Given the description of an element on the screen output the (x, y) to click on. 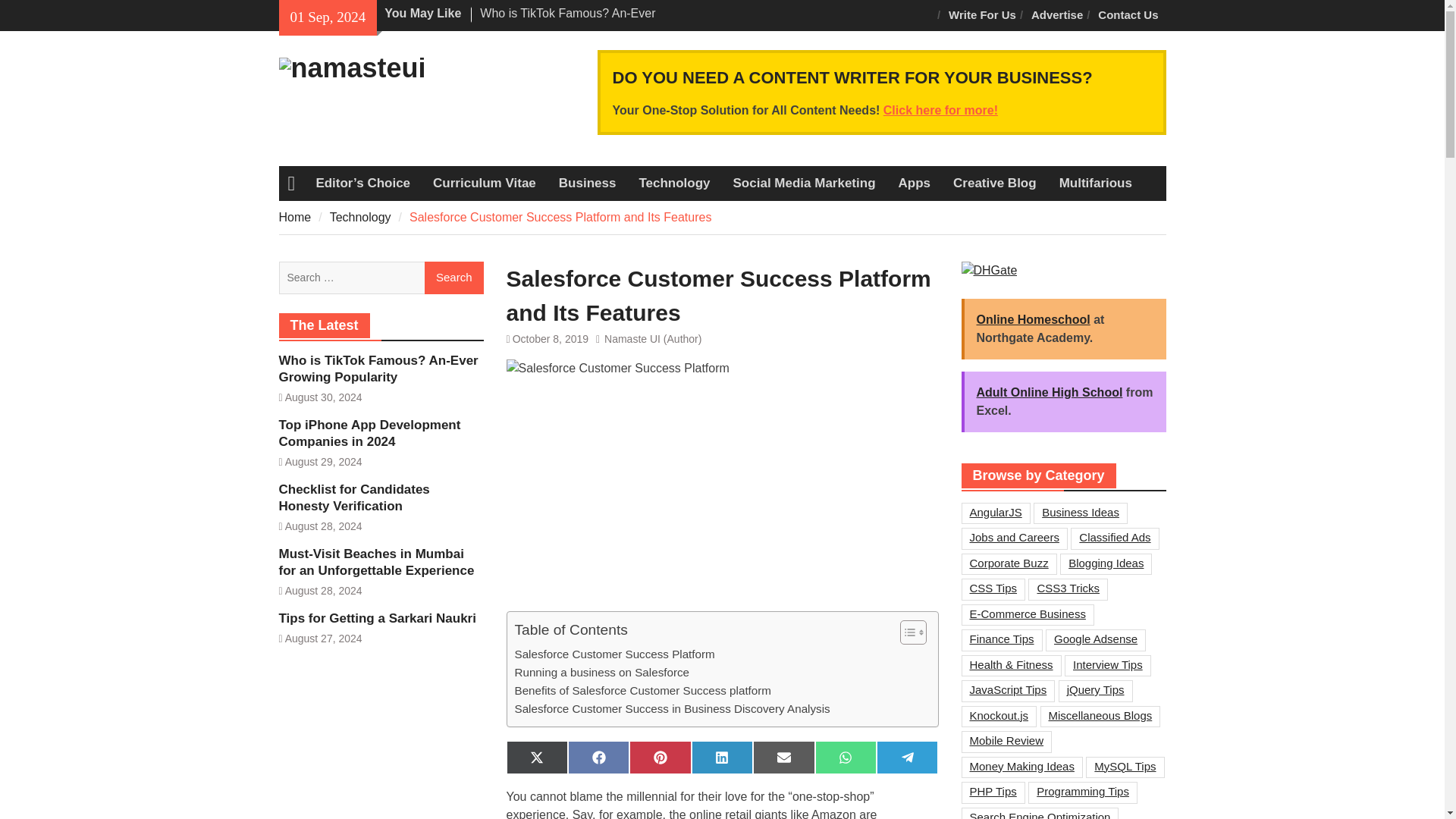
Social Media Marketing (804, 183)
Salesforce Customer Success in Business Discovery Analysis (671, 709)
Share on Telegram (906, 757)
Search (454, 277)
Share on WhatsApp (845, 757)
Creative Blog (995, 183)
Salesforce Customer Success Platform (613, 653)
October 8, 2019 (550, 337)
Technology (360, 216)
Apps (914, 183)
